Given the description of an element on the screen output the (x, y) to click on. 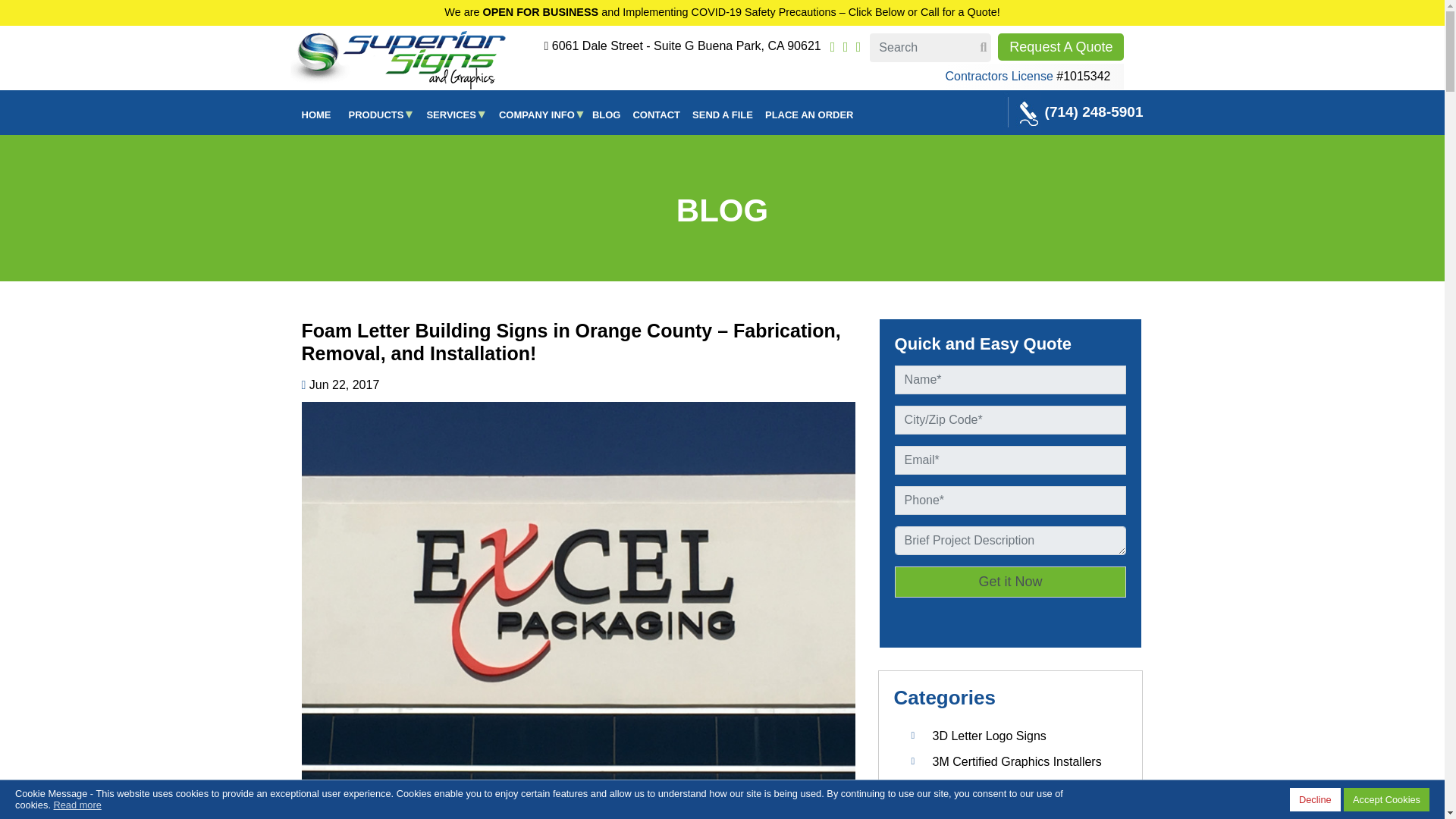
PRODUCTS (376, 112)
Accept Cookies (1386, 799)
Decline (1315, 799)
Read more (77, 804)
Get it Now (1010, 581)
Request A Quote (1060, 46)
